Given the description of an element on the screen output the (x, y) to click on. 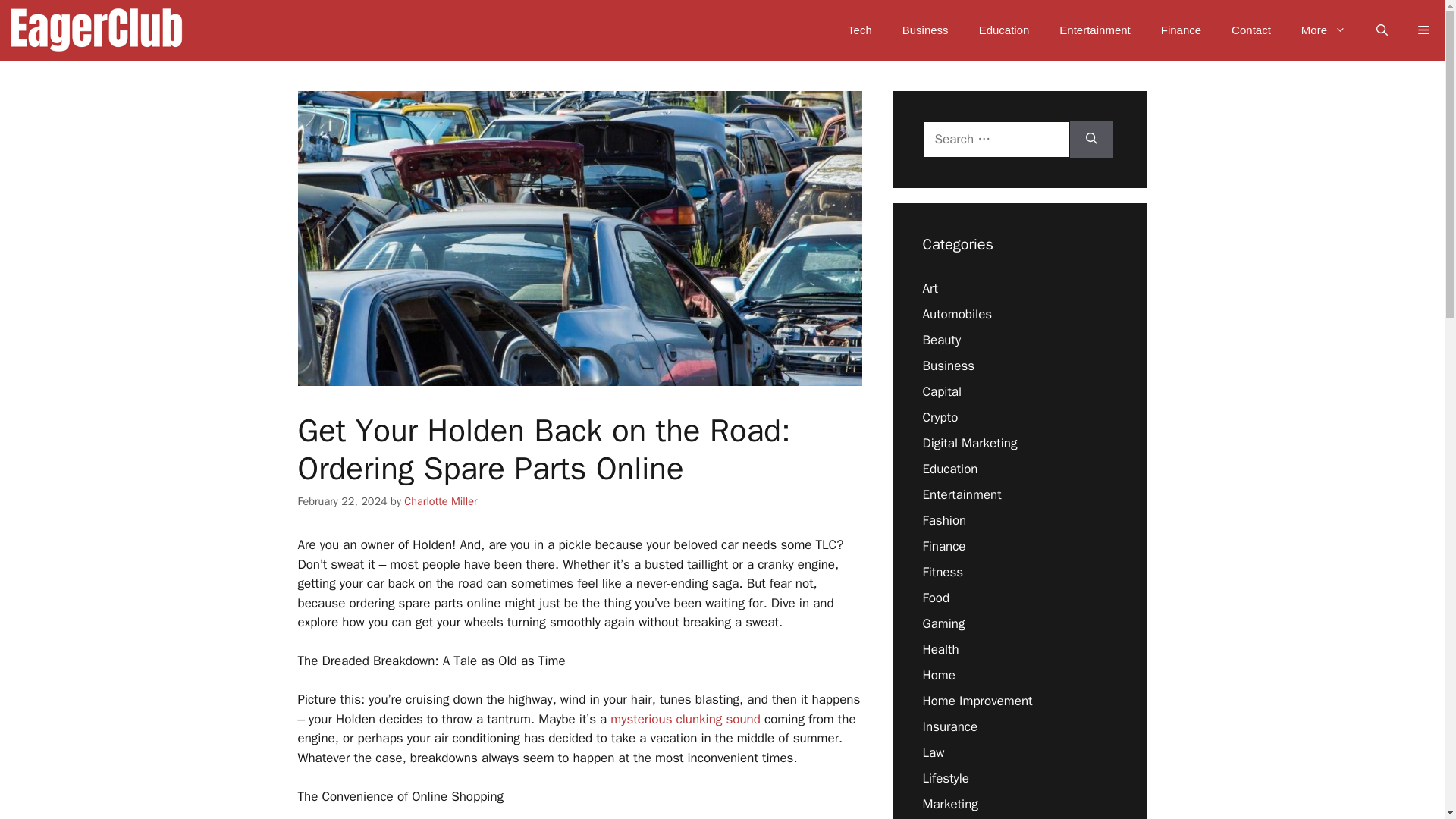
EagerClub (95, 30)
Business (947, 365)
Contact (1250, 30)
Capital (940, 391)
Art (929, 288)
Crypto (939, 417)
Automobiles (956, 314)
mysterious clunking sound (687, 719)
Finance (943, 546)
Finance (1180, 30)
Fashion (943, 520)
Business (924, 30)
Search for: (994, 139)
Beauty (940, 340)
More (1323, 30)
